Given the description of an element on the screen output the (x, y) to click on. 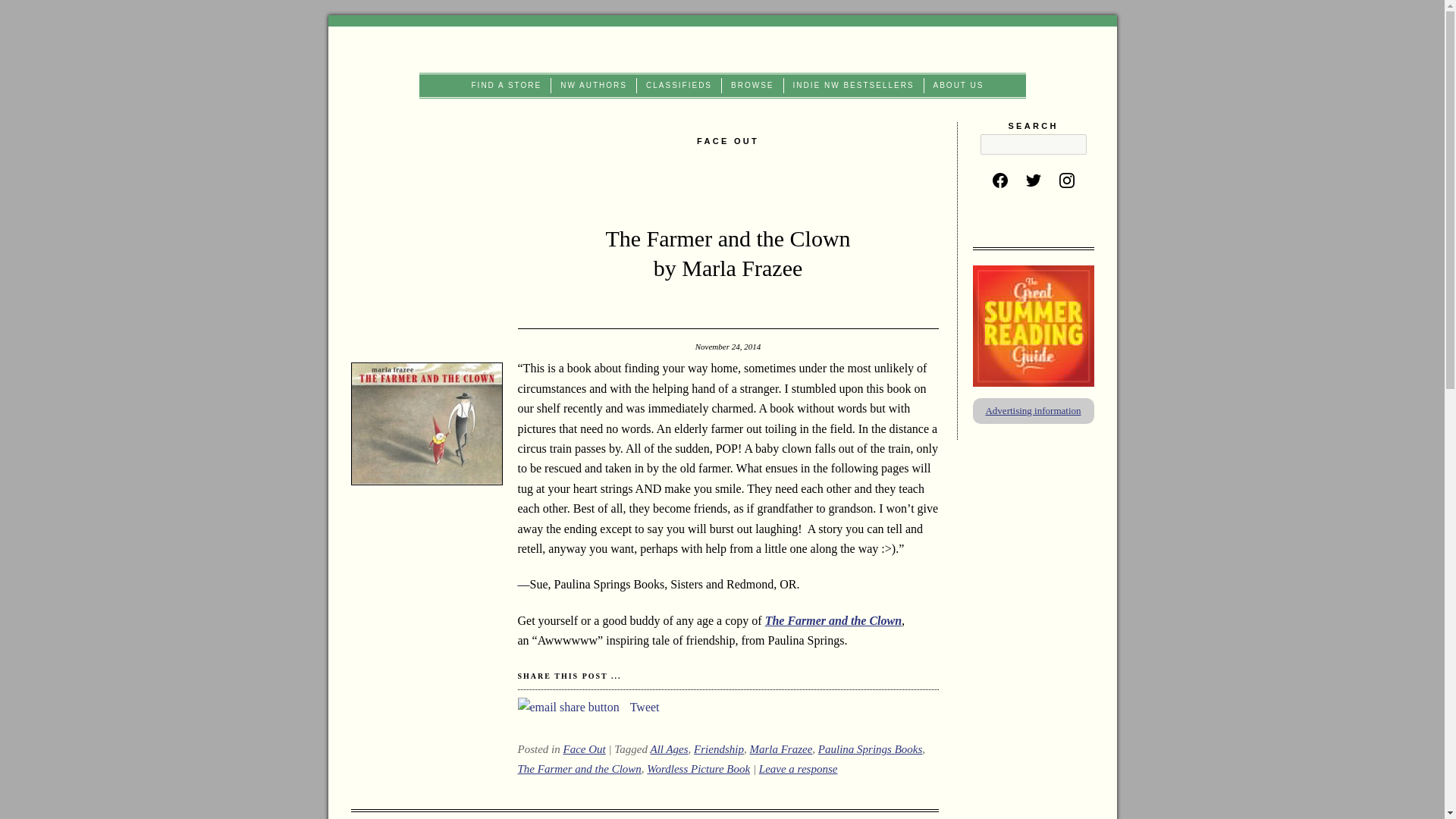
NW Book Lovers (721, 49)
INDIE NW BESTSELLERS (853, 85)
All Ages (668, 748)
Comment on The Farmer and the Clown  by Marla Frazee (798, 768)
NW AUTHORS (593, 85)
The Farmer and the Clown (578, 768)
Marla Frazee (780, 748)
FIND A STORE (507, 85)
Wordless Picture Book (697, 768)
Friendship (719, 748)
